Given the description of an element on the screen output the (x, y) to click on. 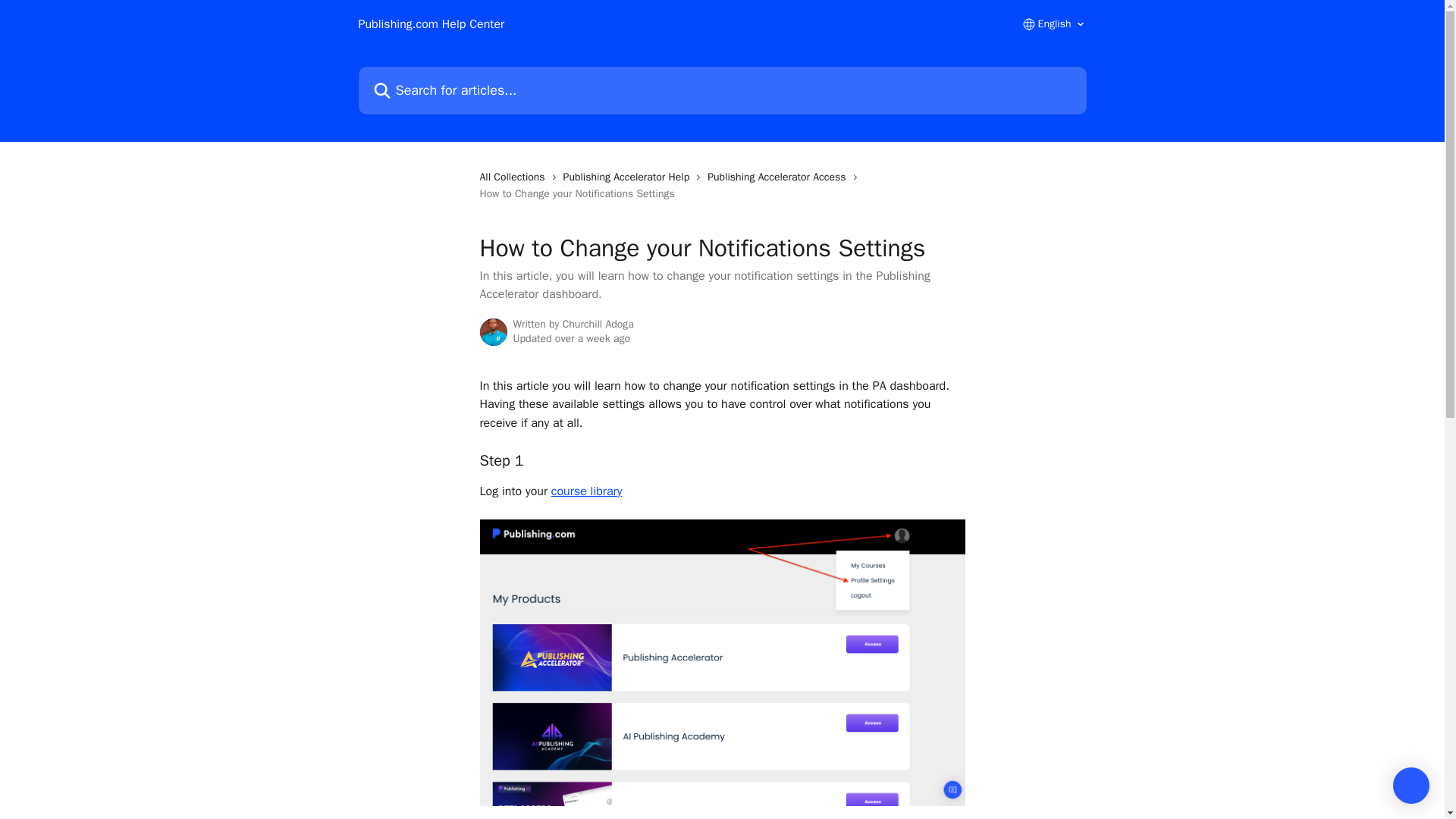
All Collections (514, 176)
course library (587, 491)
Publishing Accelerator Help (629, 176)
Publishing Accelerator Access (779, 176)
